Given the description of an element on the screen output the (x, y) to click on. 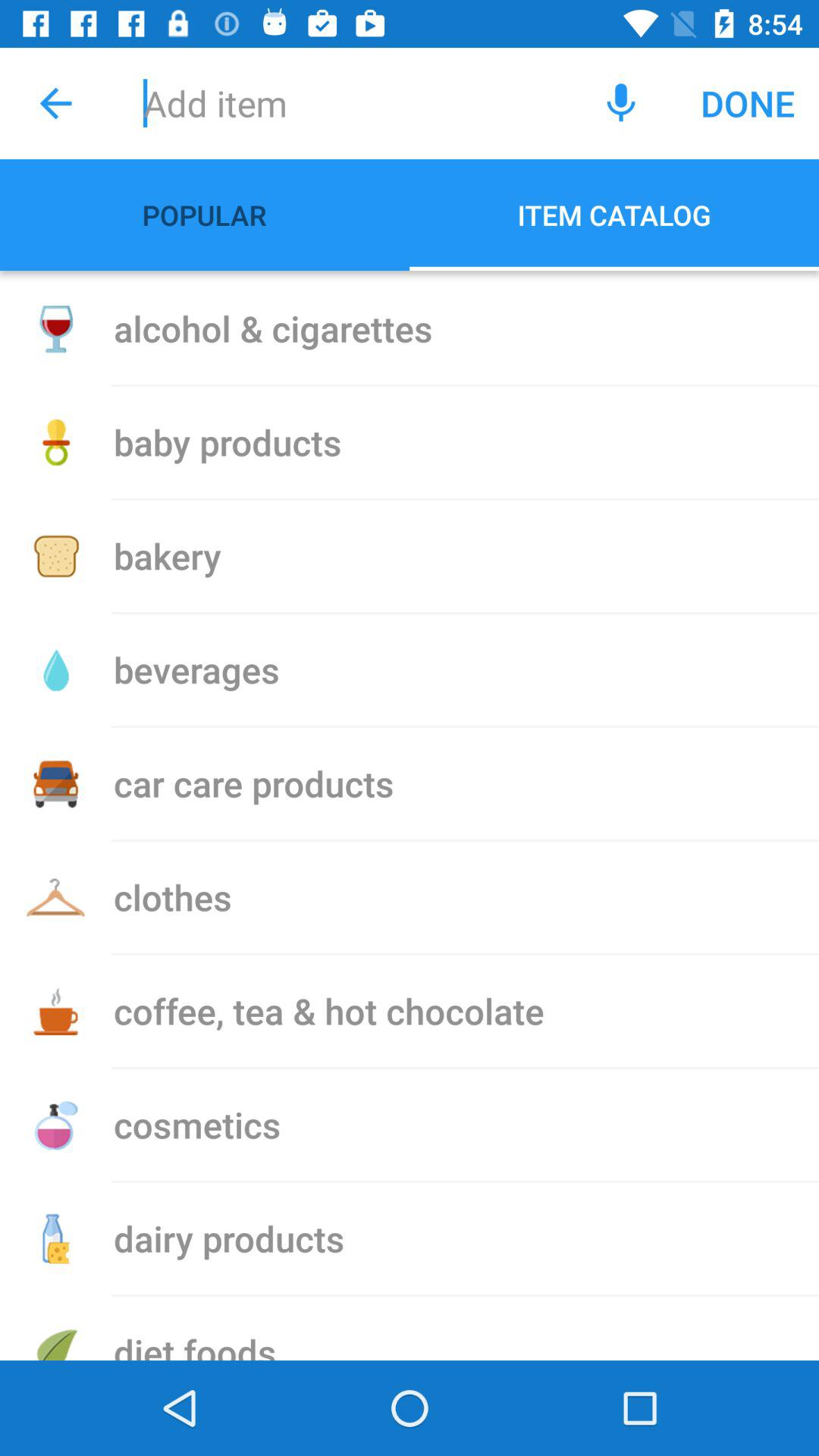
click on the icon beside clothes (55, 898)
select the icon before beverages (55, 670)
click on the third icon beside bakery (55, 556)
click on second icon beside baby products (55, 442)
